Given the description of an element on the screen output the (x, y) to click on. 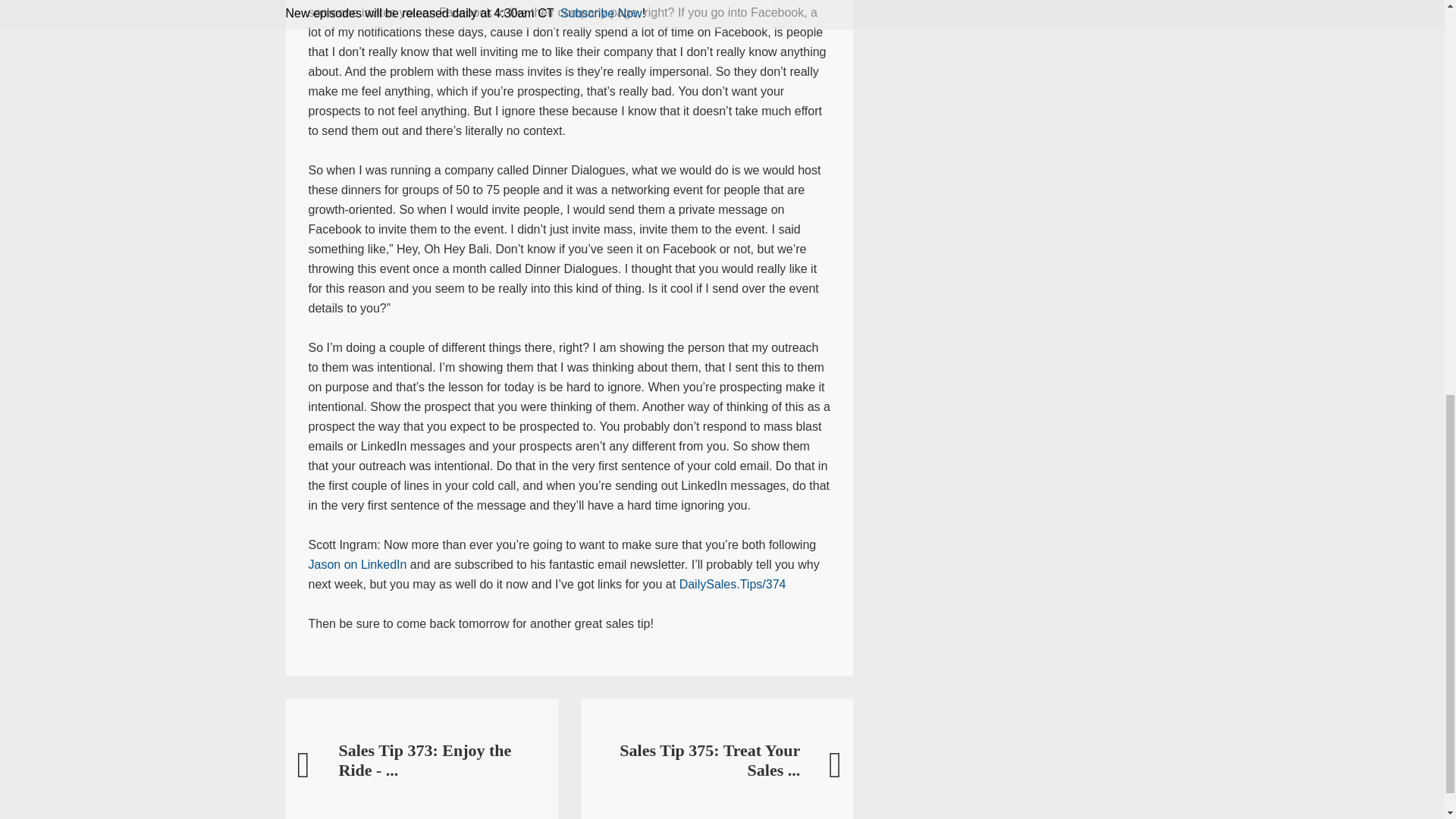
Jason on LinkedIn (356, 563)
